Given the description of an element on the screen output the (x, y) to click on. 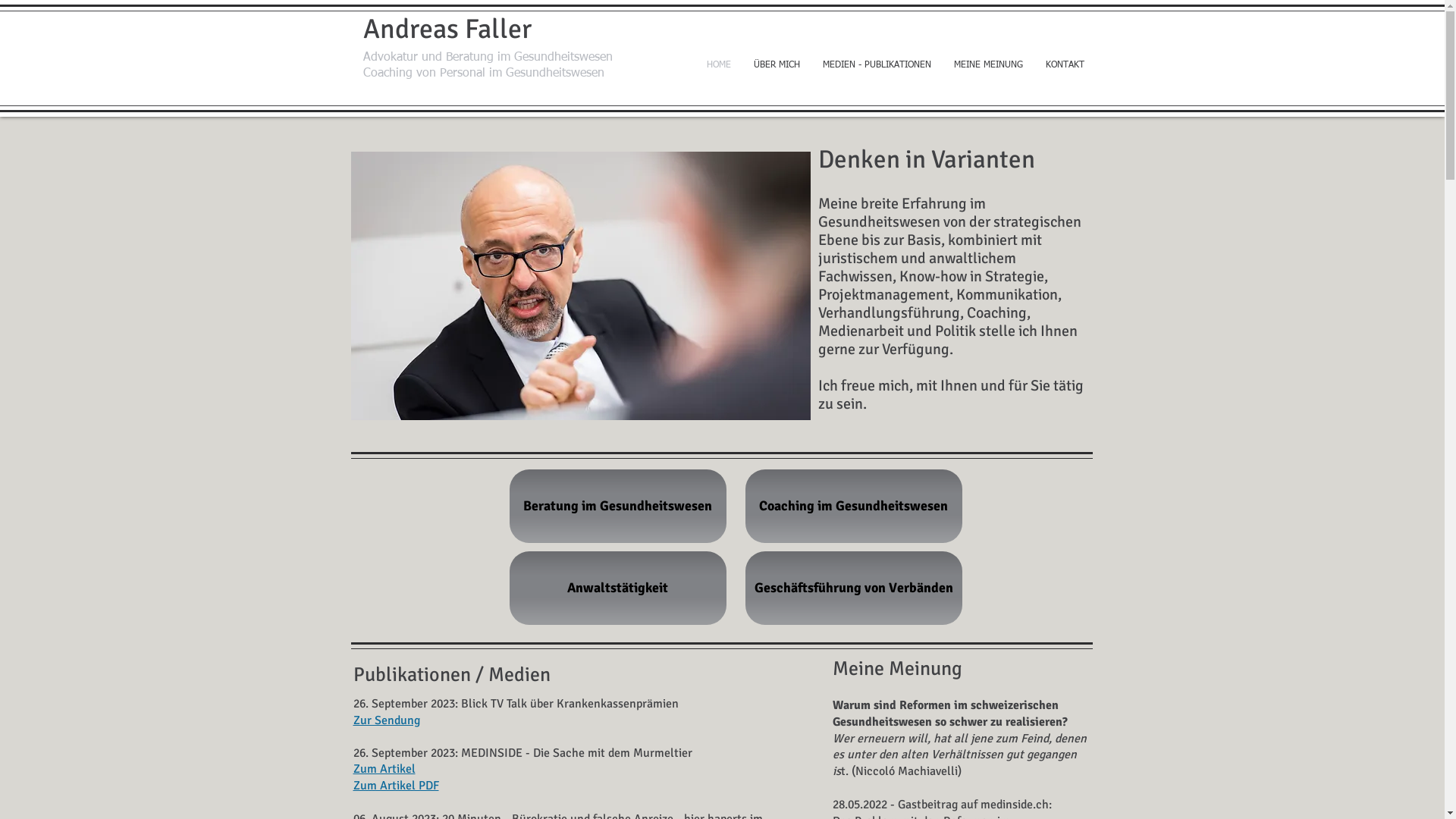
KONTAKT Element type: text (1064, 65)
Zur Sendung Element type: text (386, 721)
MEDIEN - PUBLIKATIONEN Element type: text (876, 65)
Beratung im Gesundheitswesen Element type: text (617, 505)
Zum Artikel PDF Element type: text (396, 786)
Coaching im Gesundheitswesen Element type: text (852, 505)
MEINE MEINUNG Element type: text (987, 65)
HOME Element type: text (717, 65)
Andreas Faller Element type: text (446, 29)
Zum Artikel Element type: text (384, 769)
